Given the description of an element on the screen output the (x, y) to click on. 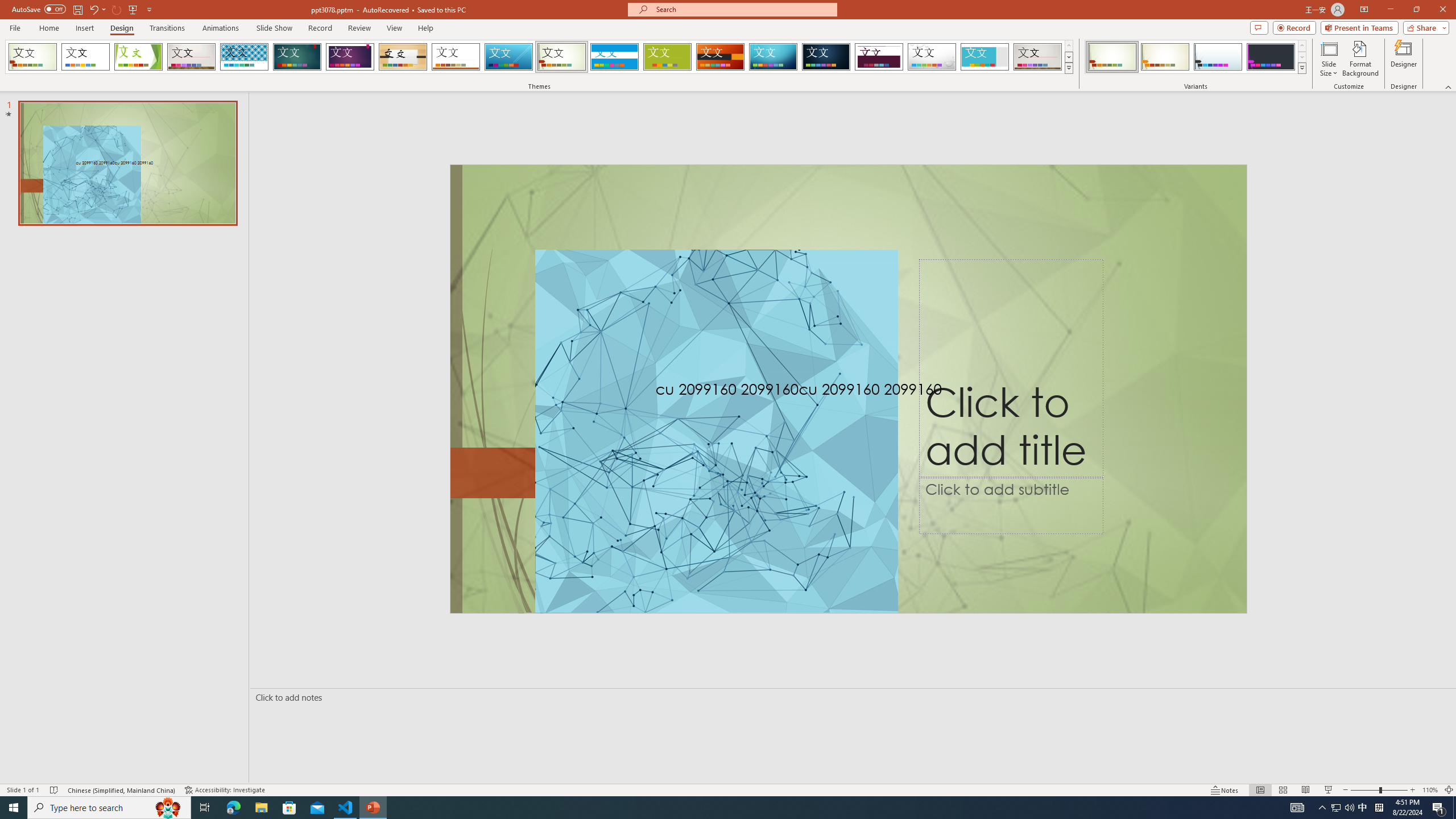
Integral (244, 56)
Damask (826, 56)
Facet (138, 56)
AutomationID: ThemeVariantsGallery (1195, 56)
